Given the description of an element on the screen output the (x, y) to click on. 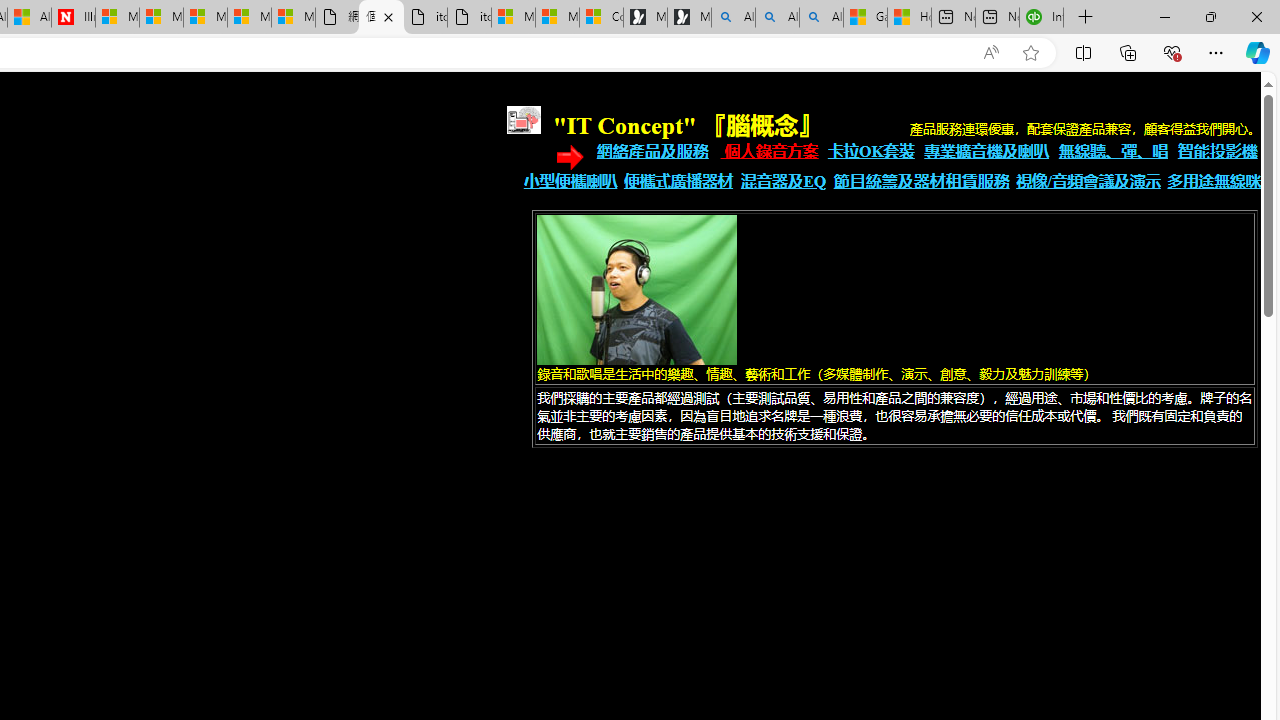
Consumer Health Data Privacy Policy (601, 17)
Alabama high school quarterback dies - Search Videos (821, 17)
How to Use a TV as a Computer Monitor (909, 17)
itconcepthk.com/projector_solutions.mp4 (469, 17)
